Given the description of an element on the screen output the (x, y) to click on. 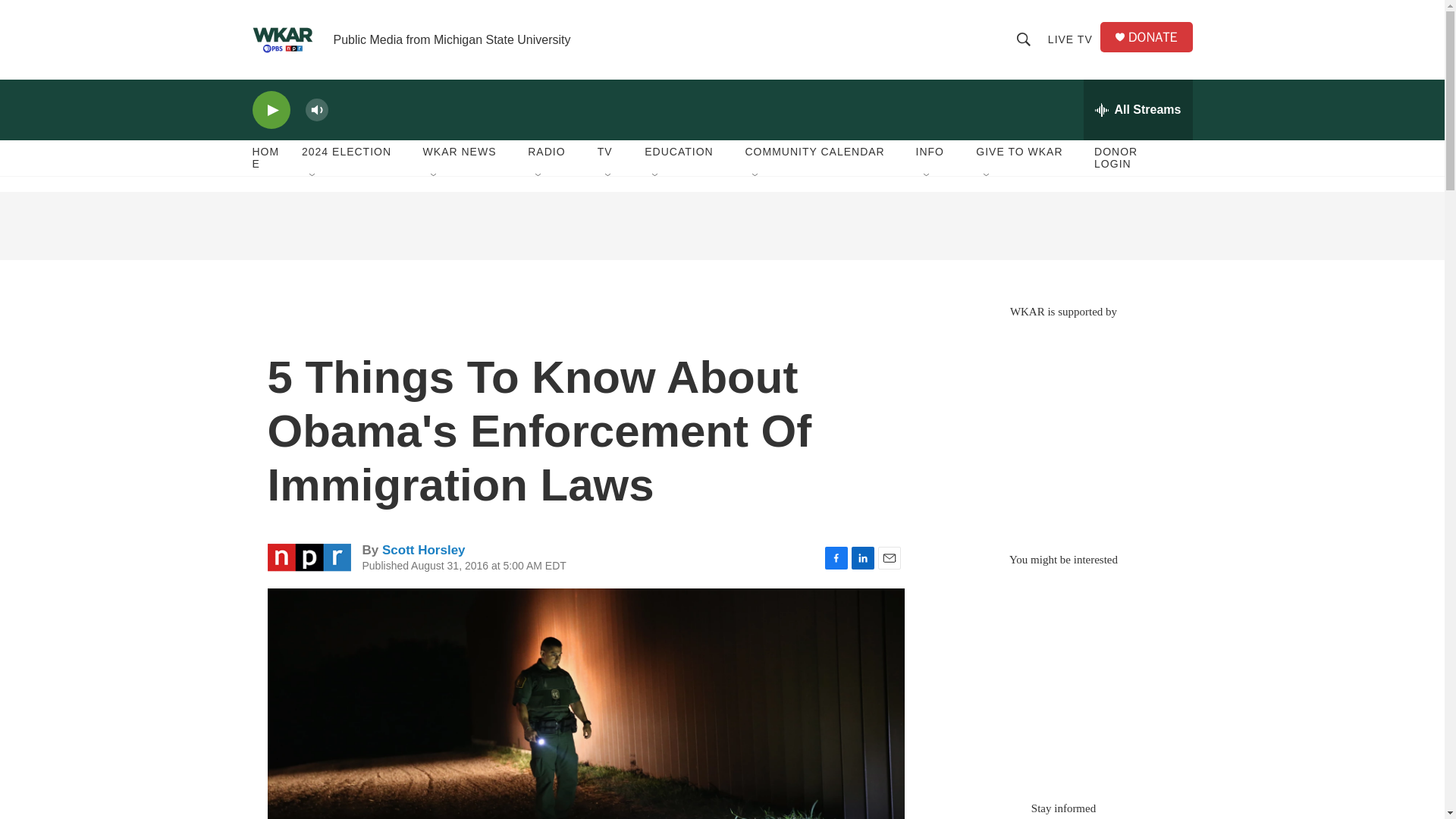
3rd party ad content (1062, 677)
3rd party ad content (721, 225)
3rd party ad content (1062, 428)
